Given the description of an element on the screen output the (x, y) to click on. 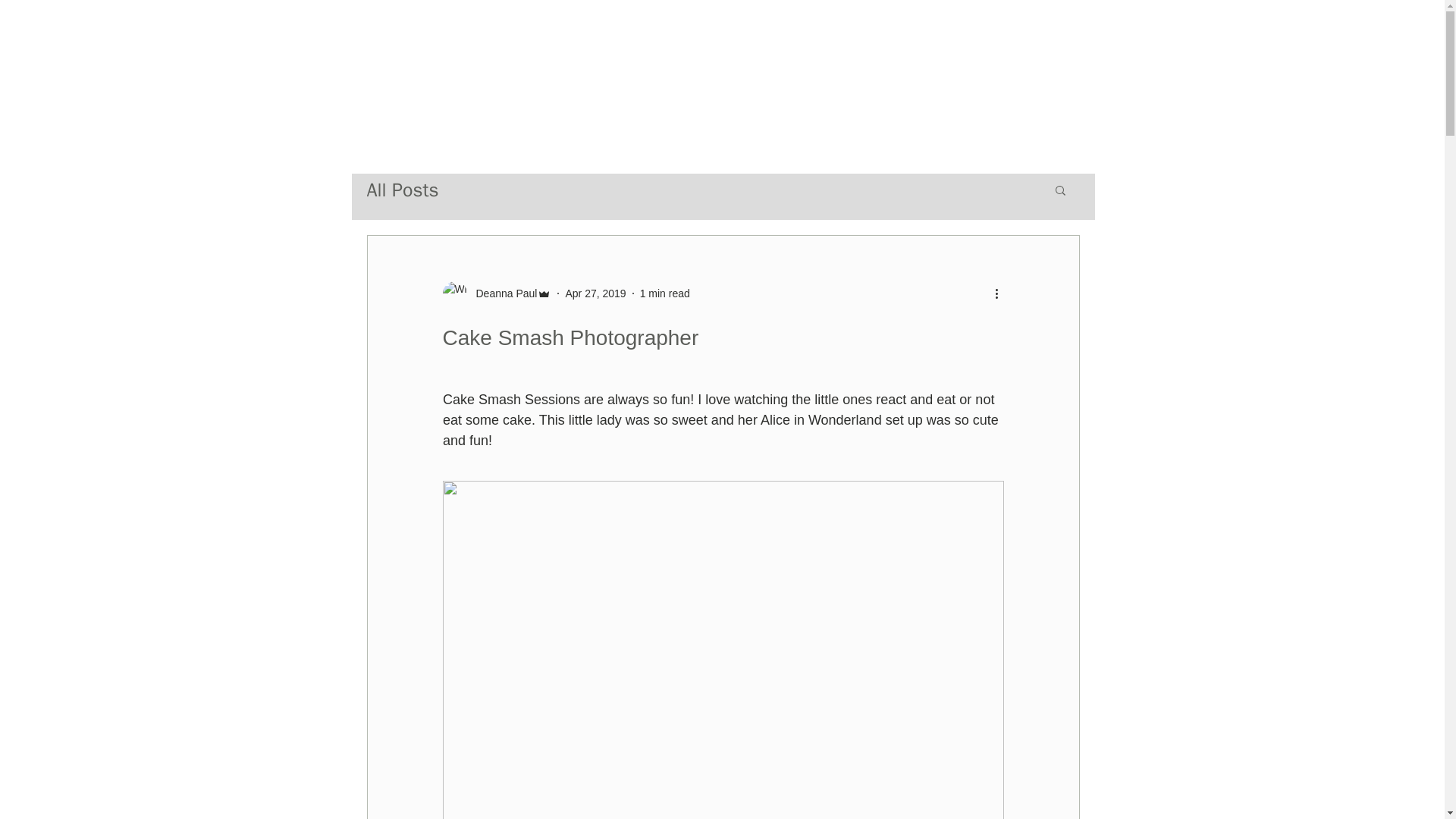
Apr 27, 2019 (595, 292)
Deanna Paul (496, 293)
Deanna Paul (502, 293)
All Posts (402, 189)
1 min read (665, 292)
